Given the description of an element on the screen output the (x, y) to click on. 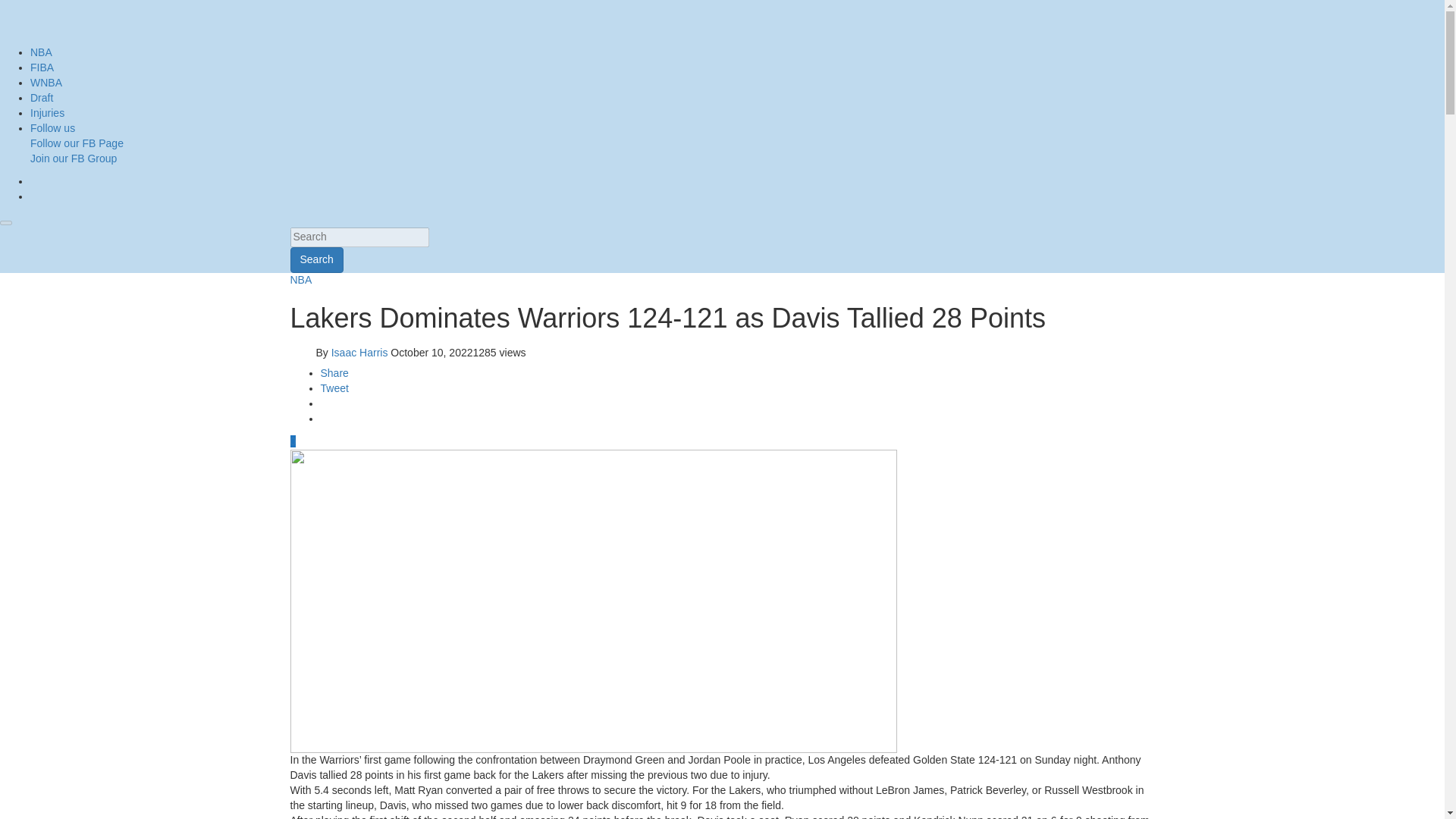
Posts by Isaac Harris (359, 352)
Join our FB Group (73, 158)
NBA (300, 279)
Tweet (333, 387)
Share on Twitter (333, 387)
Share on Facebook (333, 372)
October 10, 2022 at 11:18 am (430, 352)
Isaac Harris (359, 352)
Follow us (52, 128)
Share (333, 372)
WNBA (46, 82)
Follow our FB Page (76, 143)
0 Comments (292, 440)
FIBA (41, 67)
0 (292, 440)
